Given the description of an element on the screen output the (x, y) to click on. 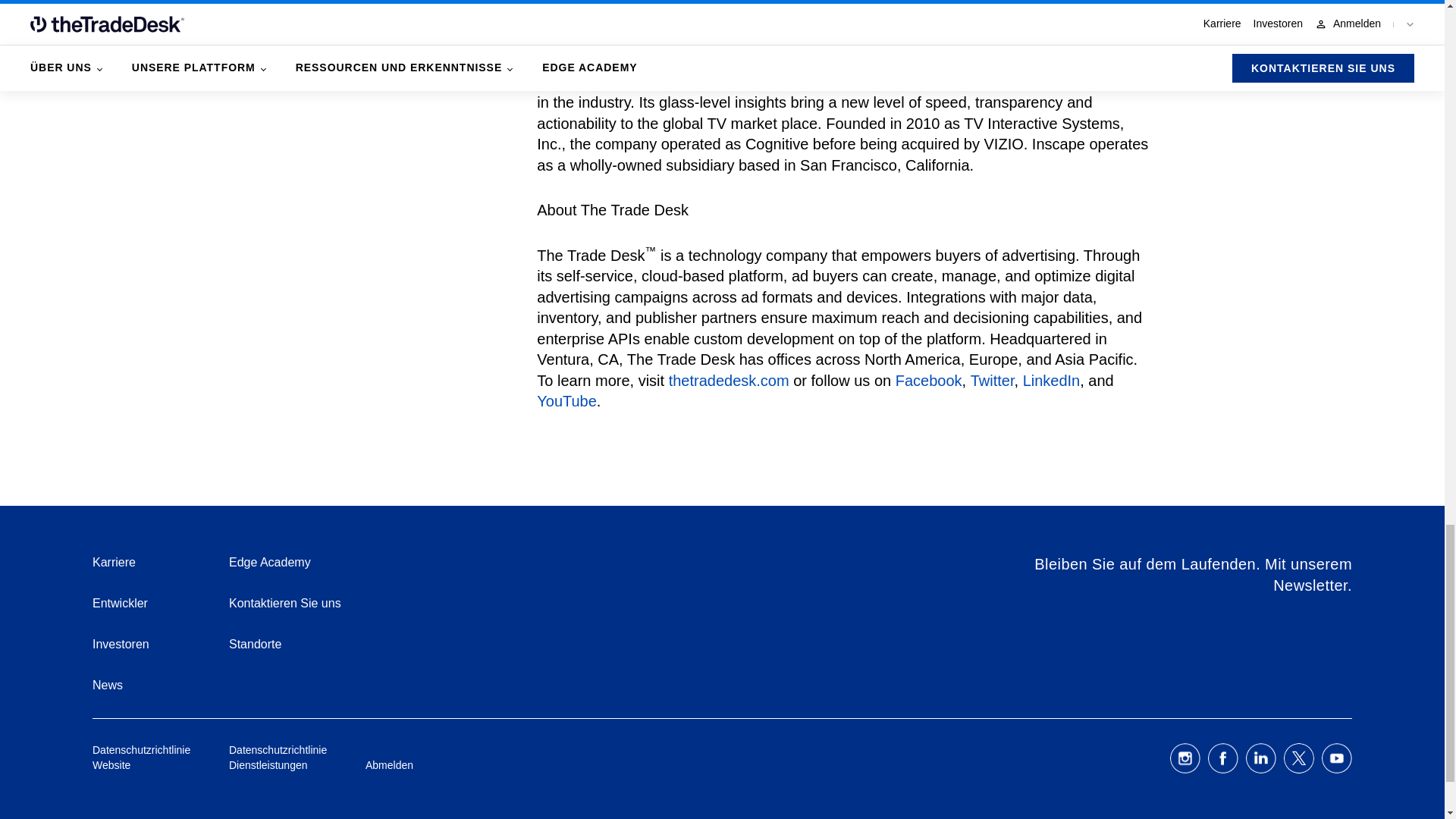
Twitter (992, 380)
thetradedesk.com (728, 380)
Facebook (928, 380)
LinkedIn (1051, 380)
YouTube (825, 411)
